Given the description of an element on the screen output the (x, y) to click on. 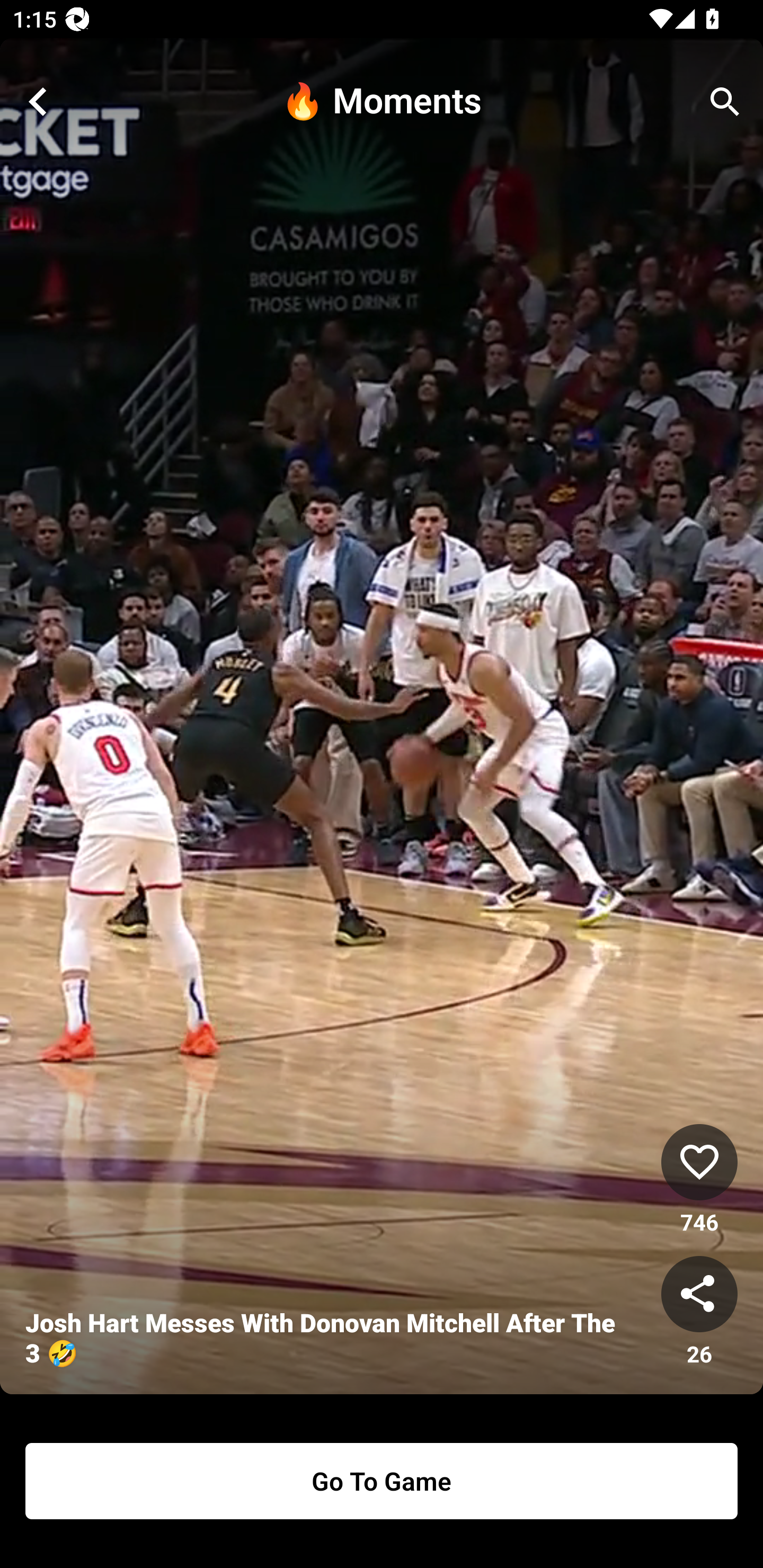
close (38, 101)
search (724, 101)
like 746 746 Likes (699, 1180)
share 26 26 Shares (699, 1311)
Go To Game (381, 1480)
